Given the description of an element on the screen output the (x, y) to click on. 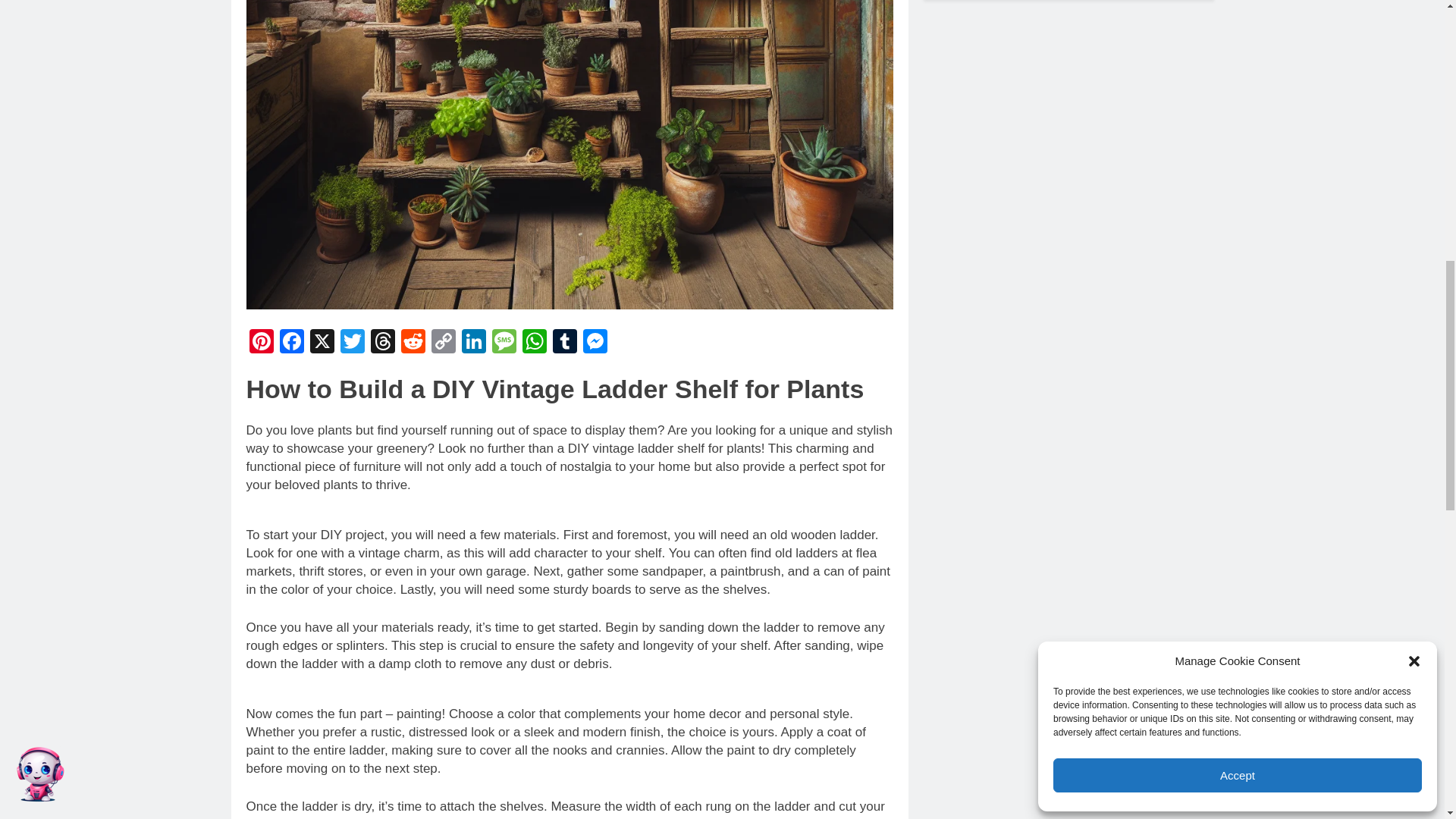
Pinterest (261, 343)
Copy Link (443, 343)
Message (502, 343)
Twitter (351, 343)
Reddit (412, 343)
Messenger (594, 343)
Tumblr (563, 343)
LinkedIn (472, 343)
Facebook (290, 343)
X (320, 343)
Threads (381, 343)
WhatsApp (533, 343)
